Given the description of an element on the screen output the (x, y) to click on. 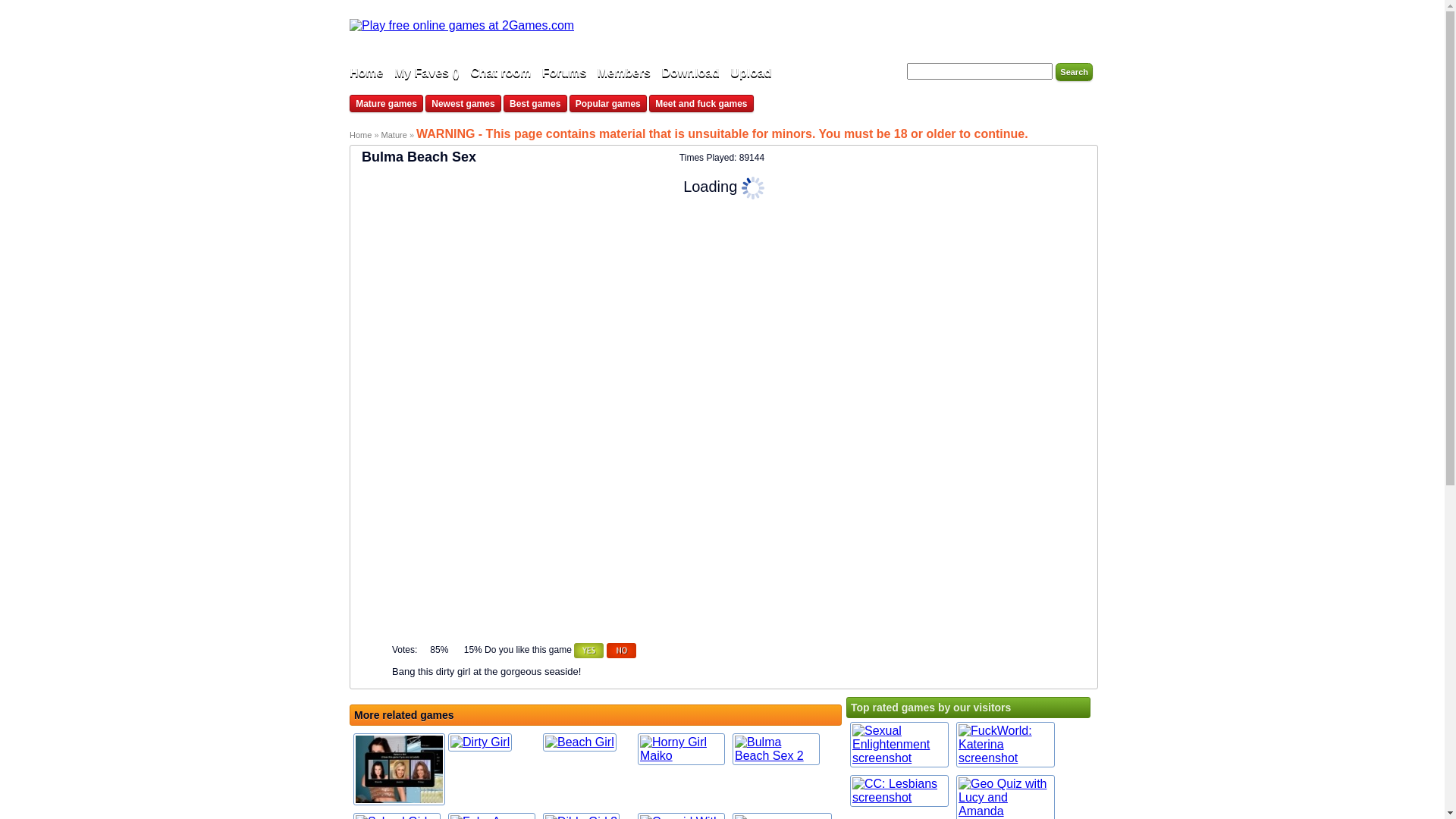
Newest games Element type: text (463, 103)
Mature games Element type: text (386, 103)
Mature Element type: text (395, 134)
Popular games Element type: text (607, 103)
Best games Element type: text (535, 103)
Download Element type: text (691, 71)
Chat room Element type: text (501, 71)
Members Element type: text (625, 71)
Forums Element type: text (564, 71)
Upload Element type: text (750, 71)
Home Element type: text (365, 71)
Meet and fuck games Element type: text (701, 103)
Sign in Element type: text (1068, 28)
Search Element type: text (1073, 71)
Create Account Element type: text (1002, 28)
Home Element type: text (360, 134)
My Faves () Element type: text (426, 71)
Back to Home page Element type: hover (461, 24)
